Given the description of an element on the screen output the (x, y) to click on. 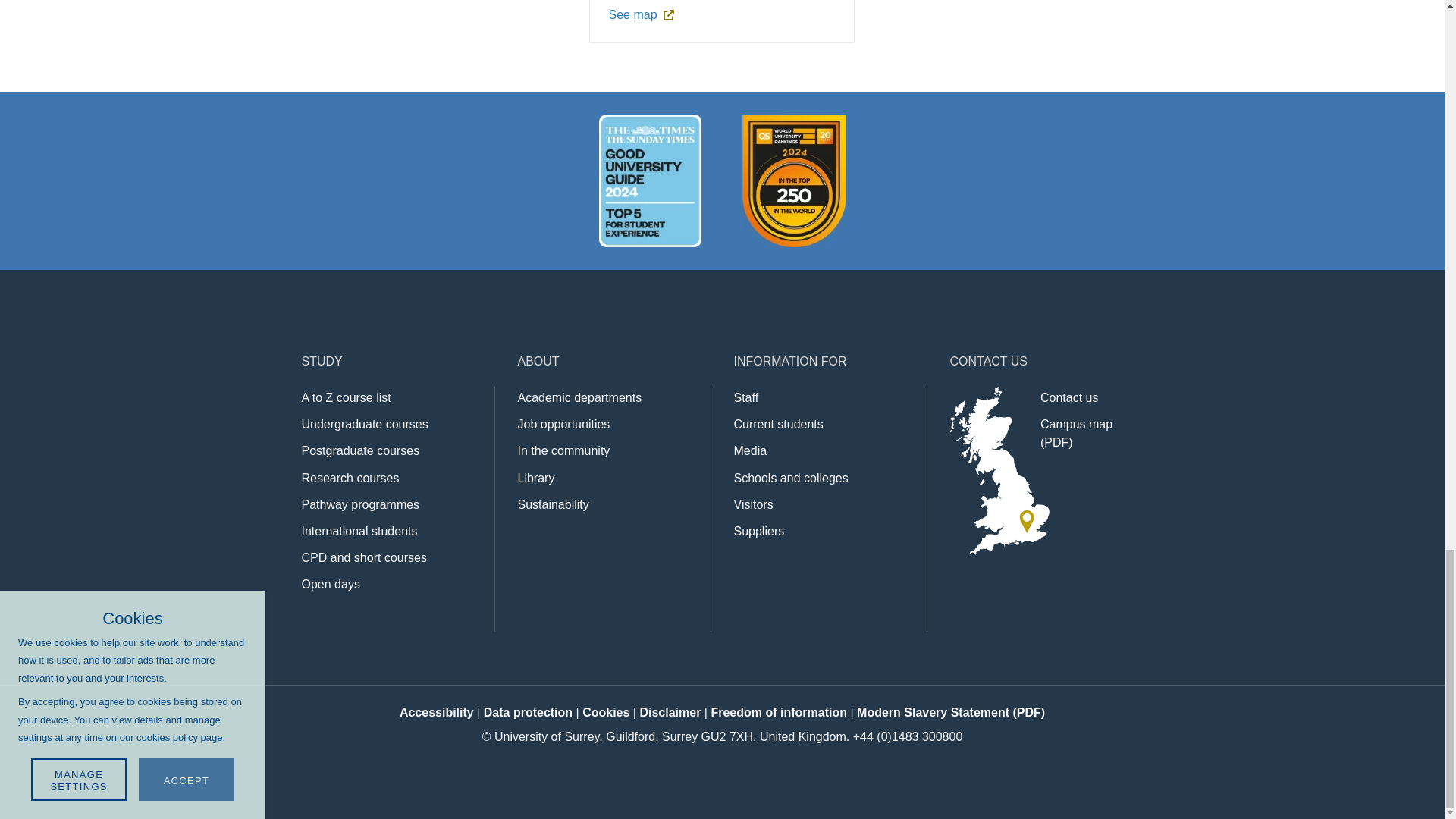
See map (665, 14)
University of Surrey campus map (1076, 432)
Modern slavery statement (951, 712)
